Given the description of an element on the screen output the (x, y) to click on. 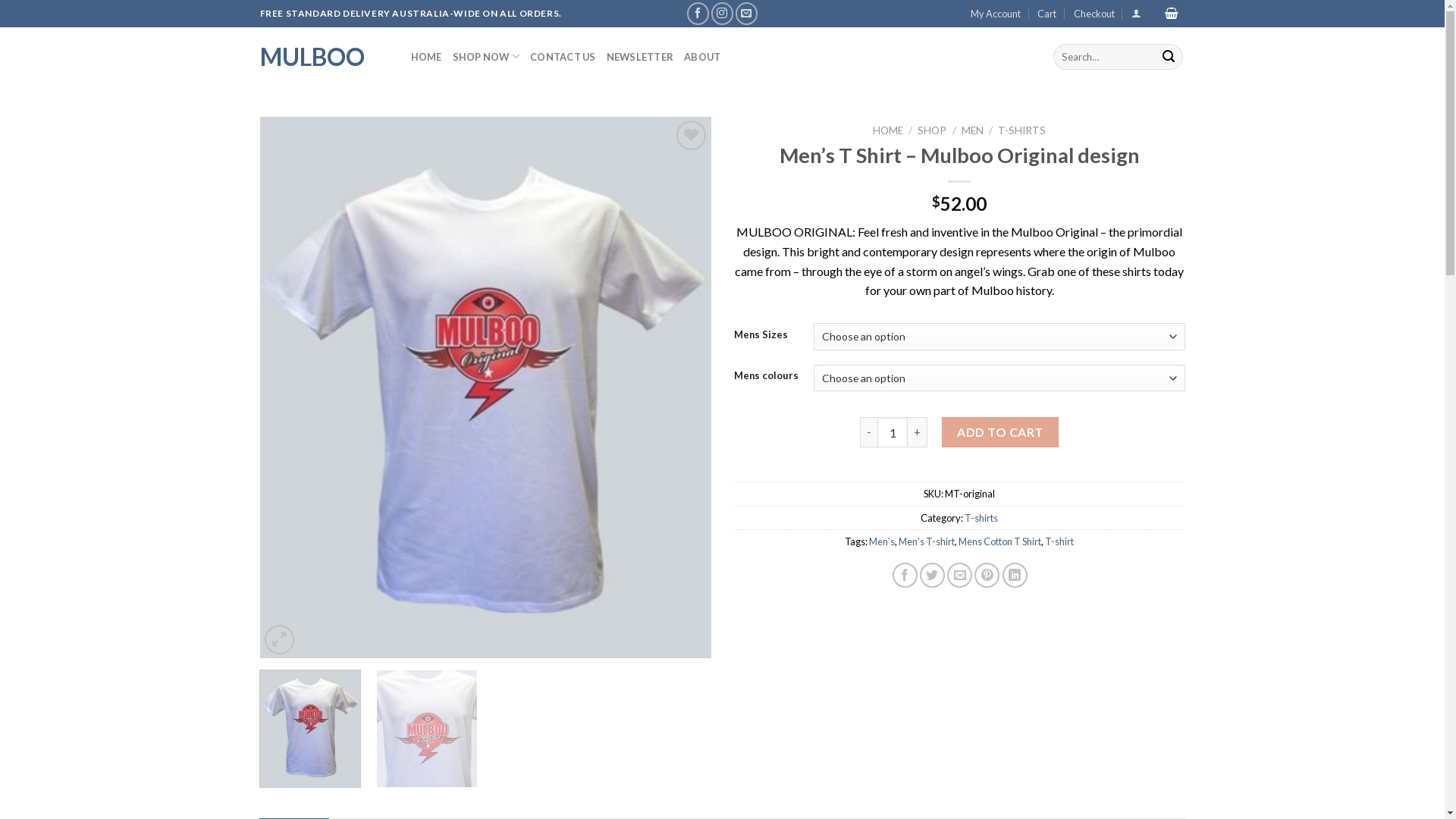
Follow on Facebook Element type: hover (698, 13)
SHOP NOW Element type: text (486, 56)
Men's T-shirt Element type: text (926, 541)
Send us an email Element type: hover (746, 13)
ABOUT Element type: text (702, 56)
Pin on Pinterest Element type: hover (986, 574)
ADD TO CART Element type: text (999, 432)
T-shirts Element type: text (980, 517)
Email to a Friend Element type: hover (959, 574)
T-SHIRTS Element type: text (1021, 130)
Share on Twitter Element type: hover (931, 574)
My Account Element type: text (995, 13)
Follow on Instagram Element type: hover (722, 13)
Share on LinkedIn Element type: hover (1014, 574)
Zoom Element type: hover (279, 639)
Search Element type: text (1168, 56)
HOME Element type: text (426, 56)
NEWSLETTER Element type: text (640, 56)
SHOP Element type: text (931, 130)
MEN Element type: text (972, 130)
Men's Element type: text (881, 541)
Cart Element type: hover (1171, 13)
CONTACT US Element type: text (563, 56)
Mens Cotton T Shirt Element type: text (999, 541)
Checkout Element type: text (1093, 13)
HOME Element type: text (887, 130)
Share on Facebook Element type: hover (904, 574)
T-shirt Element type: text (1058, 541)
MULBOO Element type: text (323, 56)
Cart Element type: text (1046, 13)
